Given the description of an element on the screen output the (x, y) to click on. 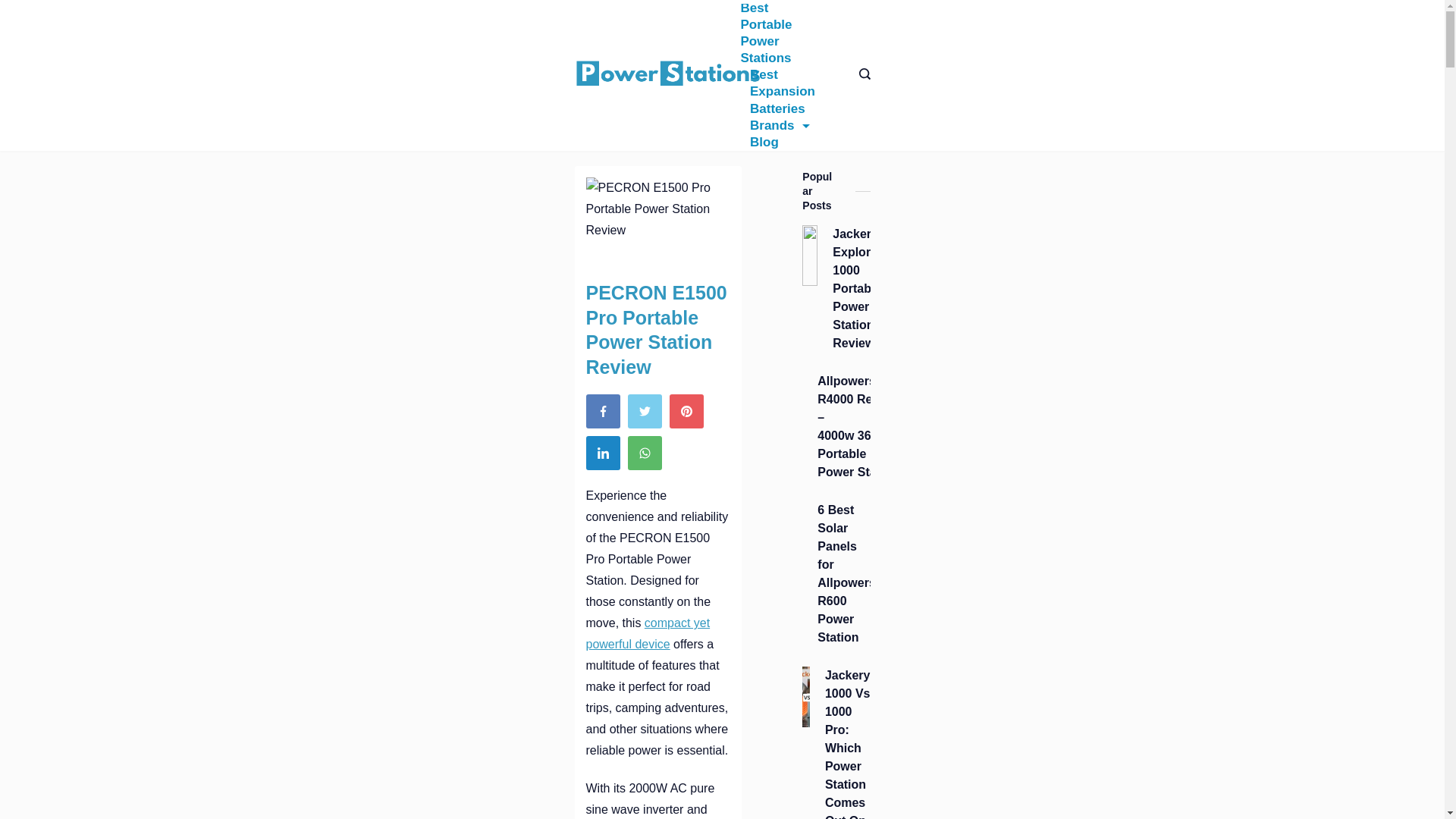
Best Expansion Batteries (782, 91)
Best Portable Power Stations (782, 33)
PECRON E1500 Pro Portable Power Station Review (657, 217)
Brands (778, 125)
compact yet powerful device (647, 633)
Blog (758, 142)
